Given the description of an element on the screen output the (x, y) to click on. 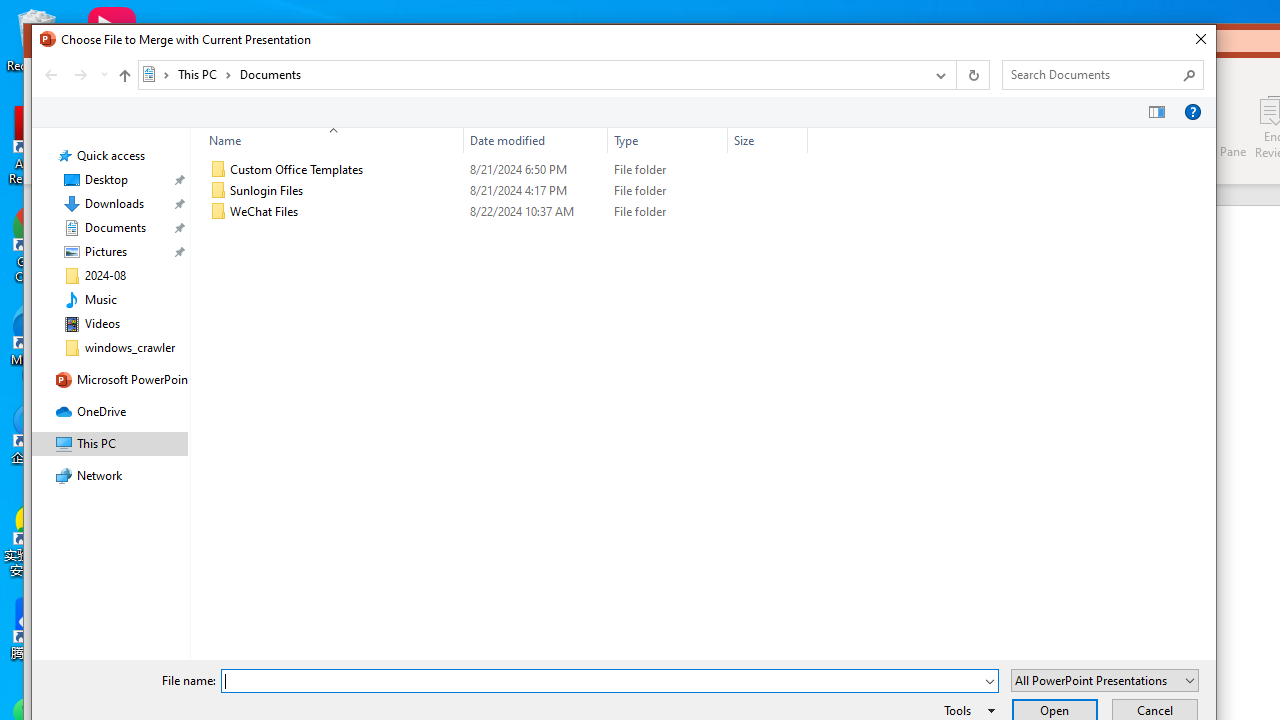
Filter dropdown (799, 140)
Documents (269, 74)
Back (Alt + Left Arrow) (50, 74)
WeChat Files (504, 211)
This PC (204, 74)
Date modified (535, 140)
Preview pane (1157, 112)
Refresh "Documents" (F5) (972, 74)
Class: UIImage (218, 211)
Command Module (624, 112)
Up to "This PC" (Alt + Up Arrow) (124, 75)
Size (767, 140)
Sunlogin Files (504, 191)
Date modified (535, 211)
